Given the description of an element on the screen output the (x, y) to click on. 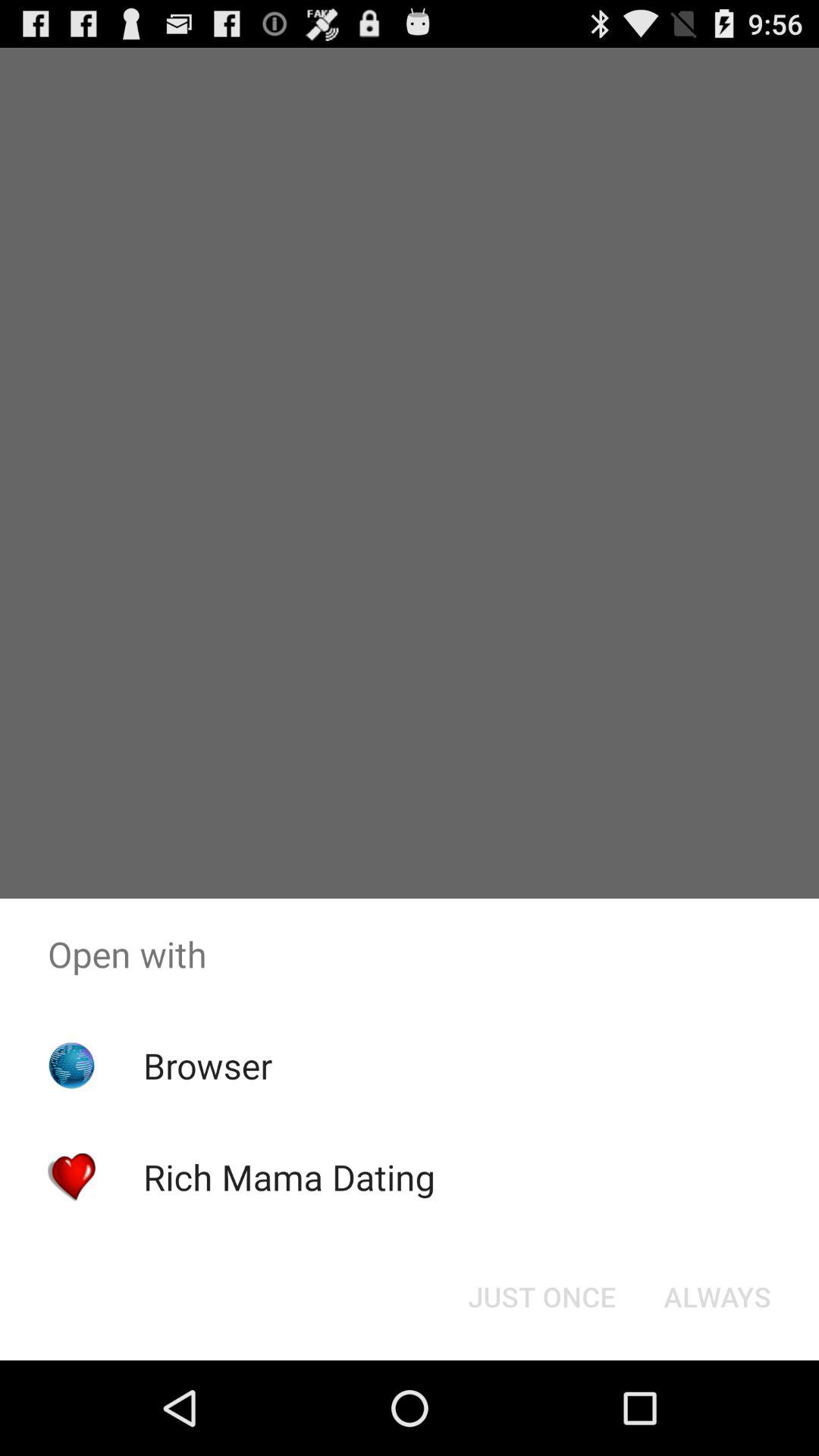
choose just once icon (541, 1296)
